Given the description of an element on the screen output the (x, y) to click on. 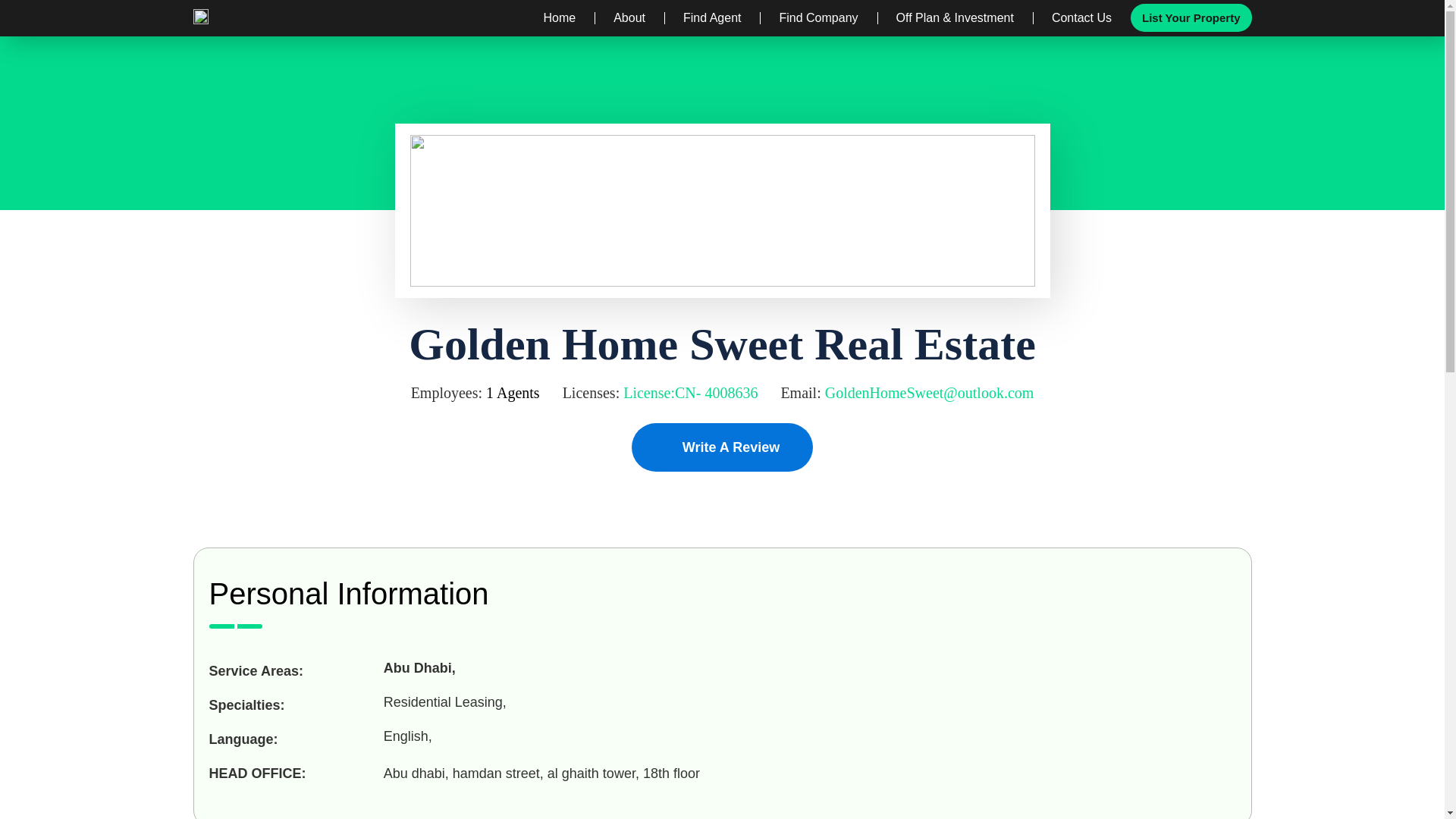
List Your Property (1190, 17)
Write A Review (721, 447)
About (628, 18)
Contact Us (1081, 18)
Find Company (818, 18)
Find Agent (711, 18)
1 Agents (513, 392)
Home (559, 18)
